Given the description of an element on the screen output the (x, y) to click on. 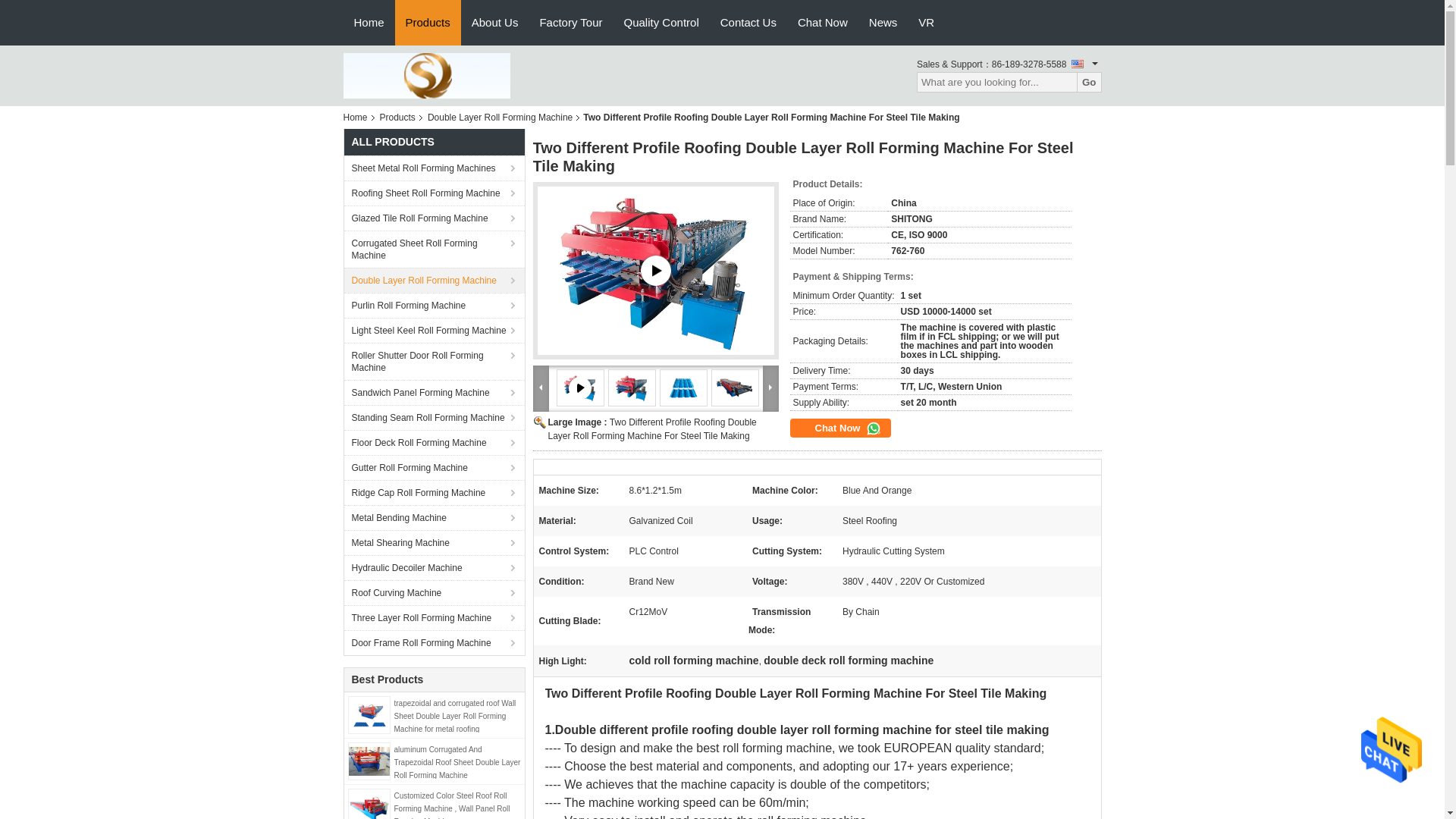
Double Layer Roll Forming Machine (433, 279)
Corrugated Sheet Roll Forming Machine (433, 248)
Home (368, 22)
About Us (495, 22)
News (883, 22)
Quality Control (661, 22)
Products (398, 117)
Factory Tour (570, 22)
Roofing Sheet Roll Forming Machine (433, 192)
